Given the description of an element on the screen output the (x, y) to click on. 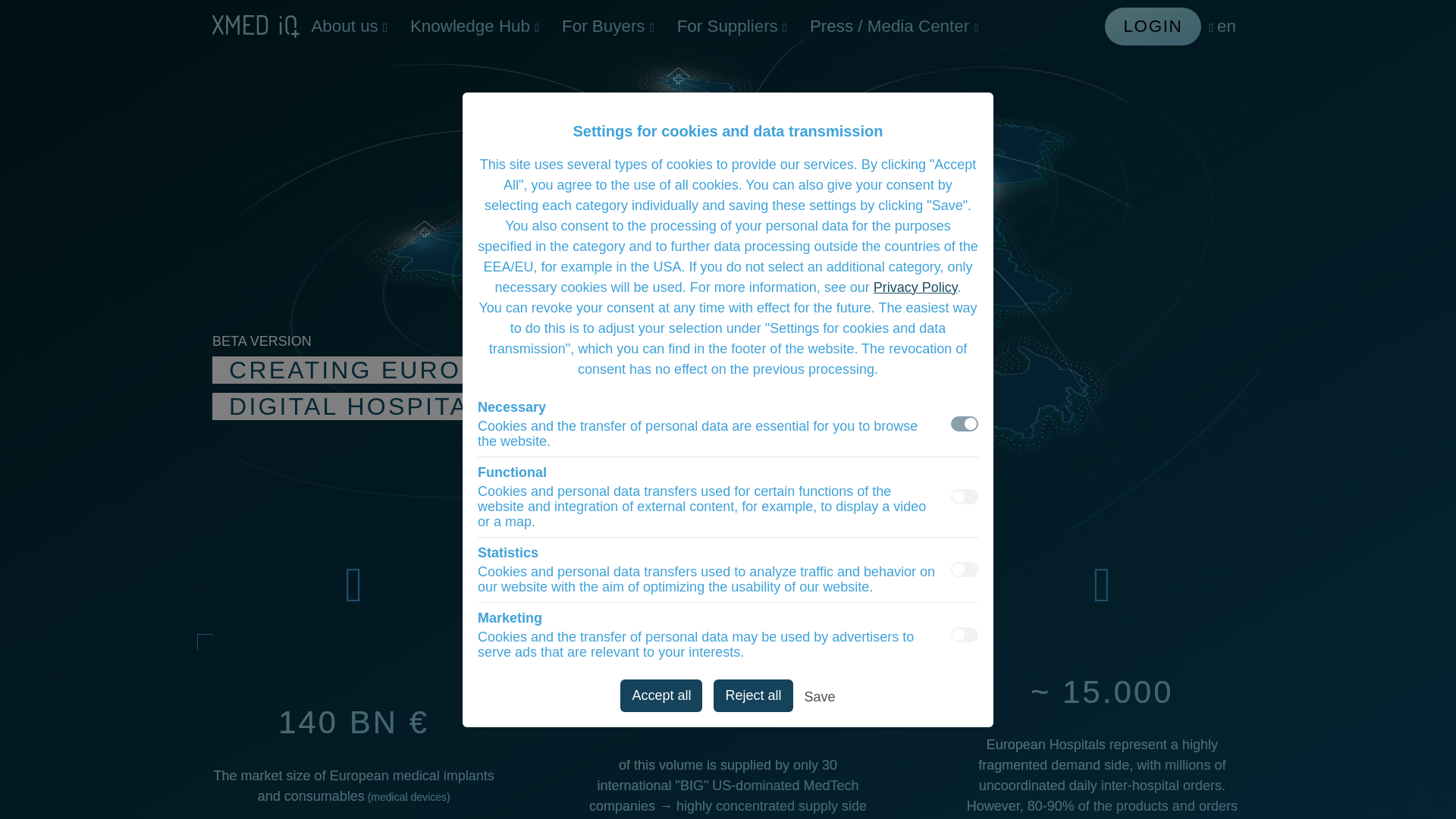
Reject all (752, 695)
on (964, 569)
Accept all (660, 695)
on (964, 634)
Save (820, 699)
on (964, 423)
Privacy Policy (915, 286)
For Suppliers (731, 26)
For Buyers (607, 26)
Knowledge Hub (474, 26)
